Given the description of an element on the screen output the (x, y) to click on. 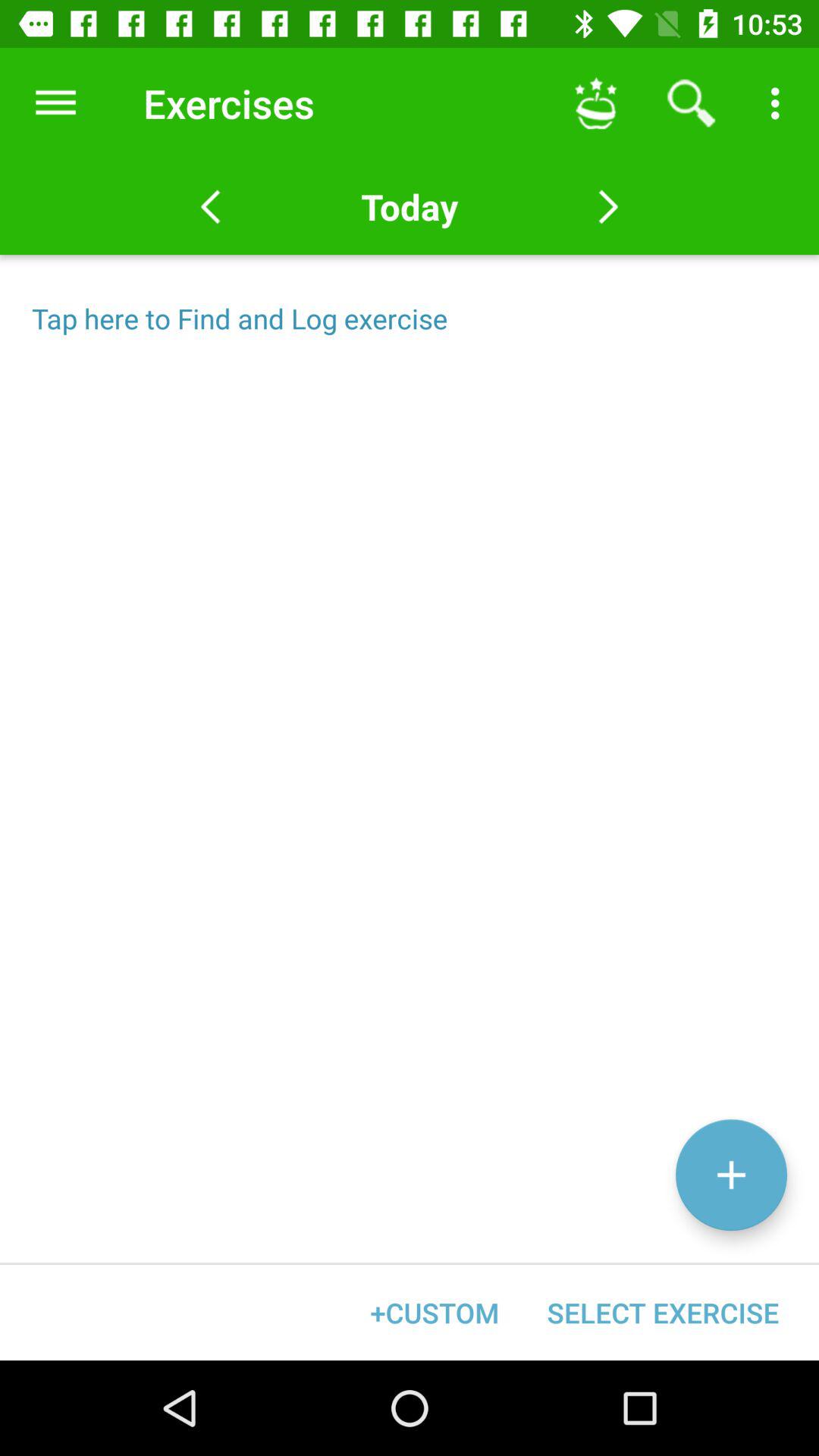
select item above tap here to icon (55, 103)
